Given the description of an element on the screen output the (x, y) to click on. 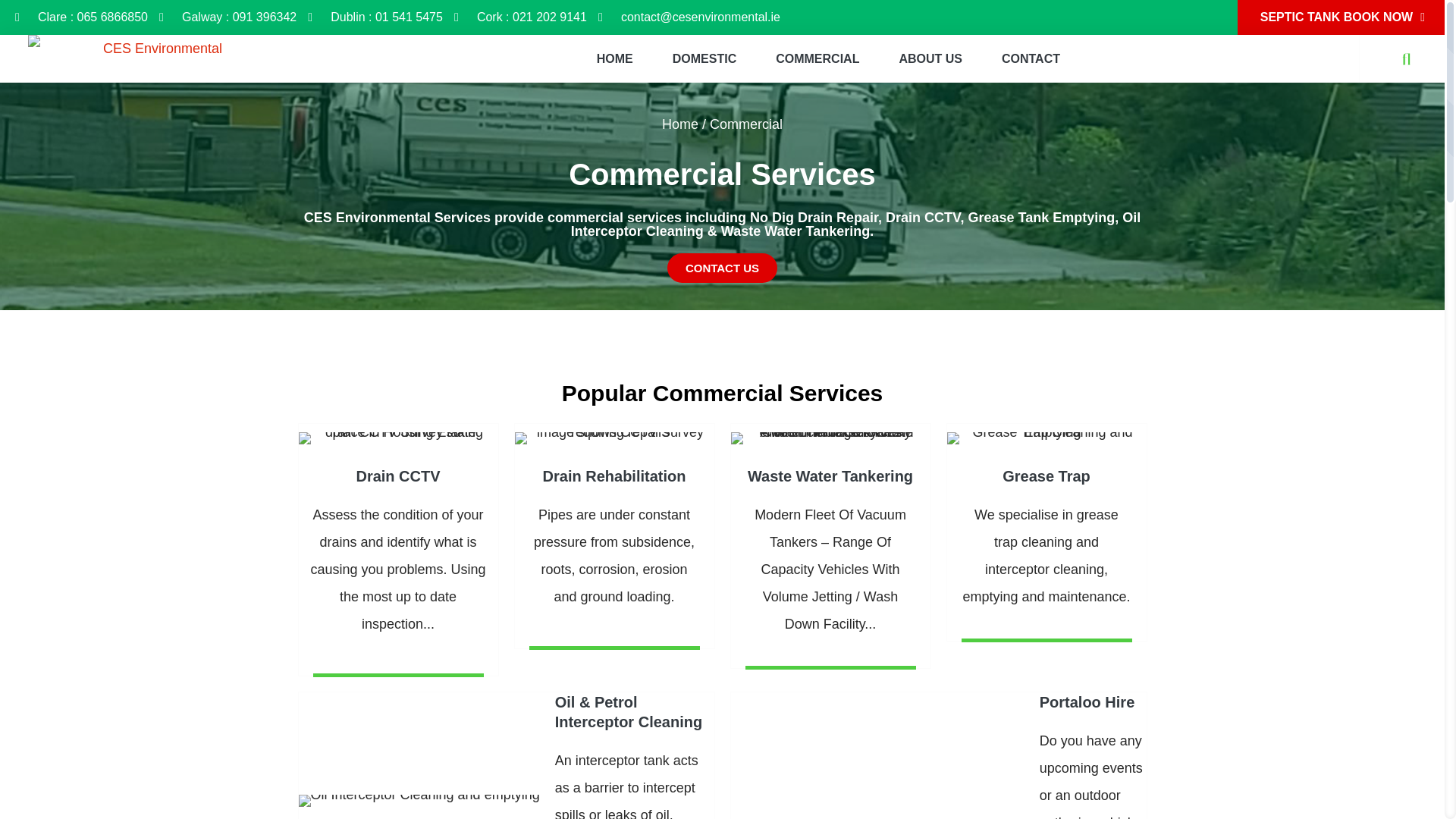
CCTV Drain And Sewer Surveying (397, 438)
Cork : 021 202 9141 (520, 17)
DOMESTIC (704, 59)
ABOUT US (930, 59)
HOME (615, 59)
Drain Repairs (613, 438)
Galway : 091 396342 (227, 17)
COMMERCIAL (816, 59)
Dublin : 01 541 5475 (374, 17)
Clare : 065 6866850 (81, 17)
